Given the description of an element on the screen output the (x, y) to click on. 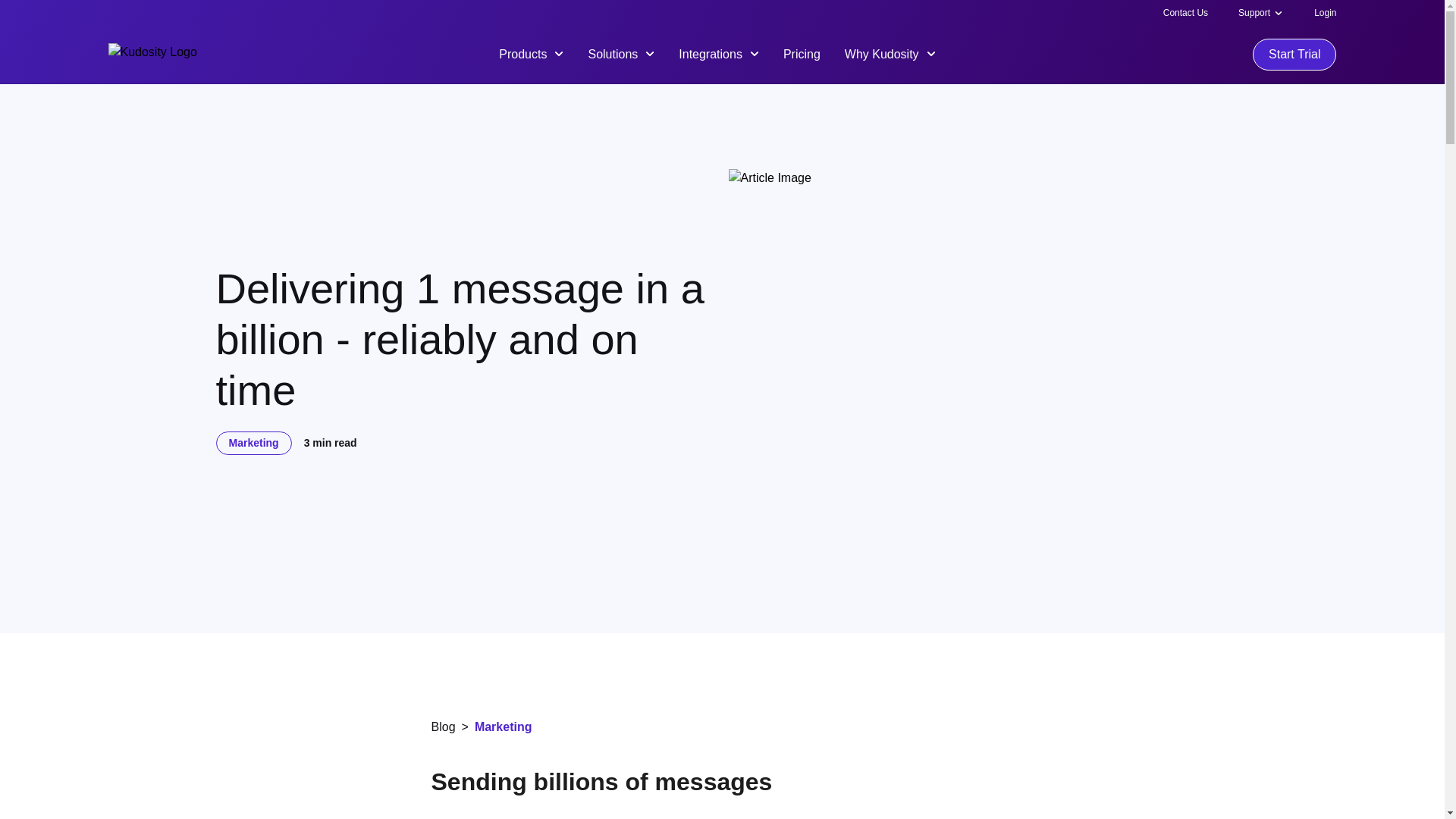
Products (531, 54)
Support (1254, 12)
Solutions (620, 54)
Login (1325, 12)
Contact Us (1185, 12)
Kudosity (151, 54)
